Given the description of an element on the screen output the (x, y) to click on. 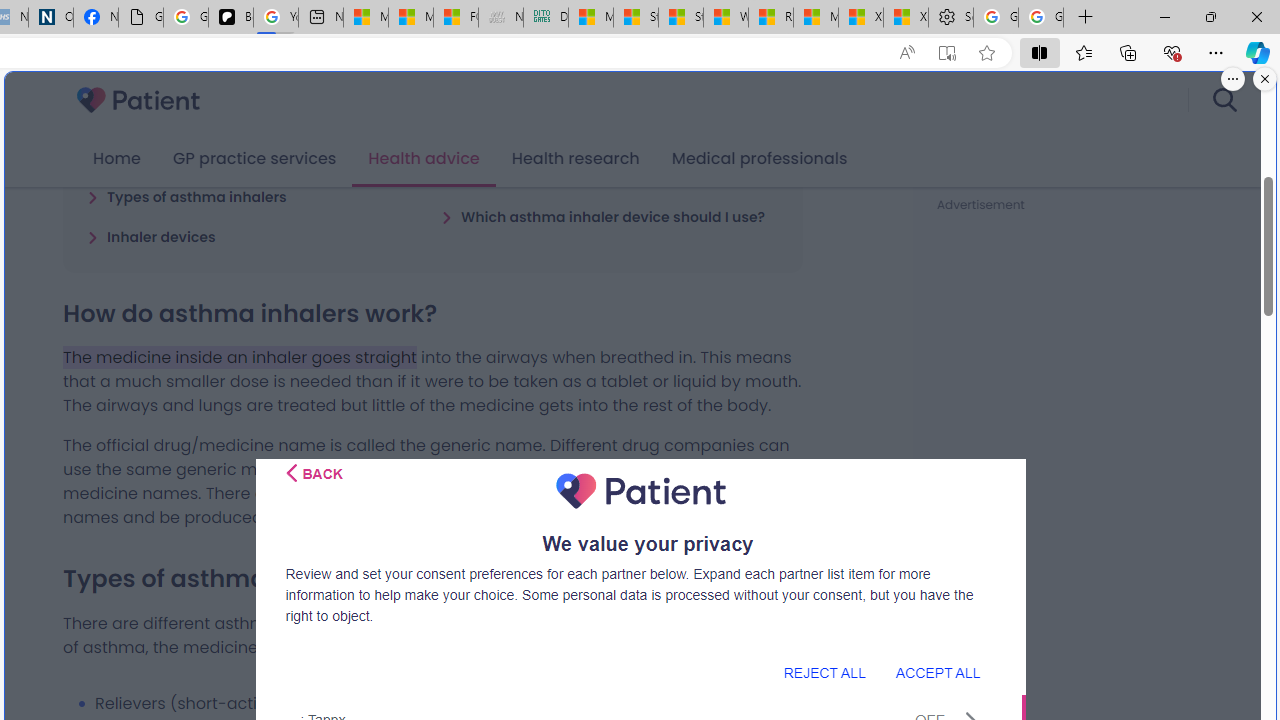
Back (314, 473)
Close (1256, 16)
New Tab (1085, 17)
DITOGAMES AG Imprint (545, 17)
Health advice (424, 159)
Types of asthma inhalers (186, 196)
Inhaler devices (151, 236)
Home (116, 159)
ACCEPT ALL (937, 672)
New tab (321, 17)
Health research (575, 159)
